Given the description of an element on the screen output the (x, y) to click on. 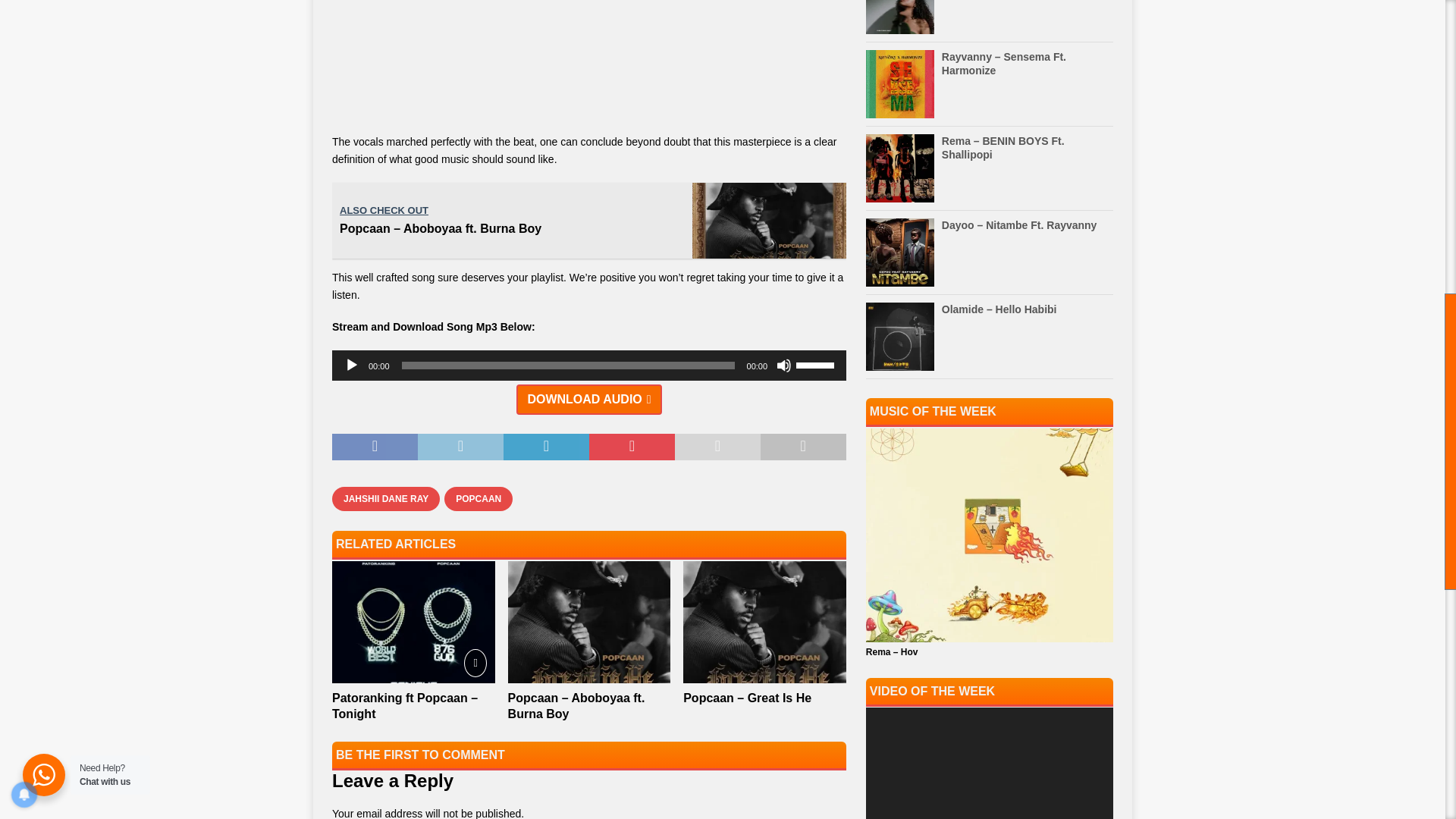
Advertisement (588, 63)
